Given the description of an element on the screen output the (x, y) to click on. 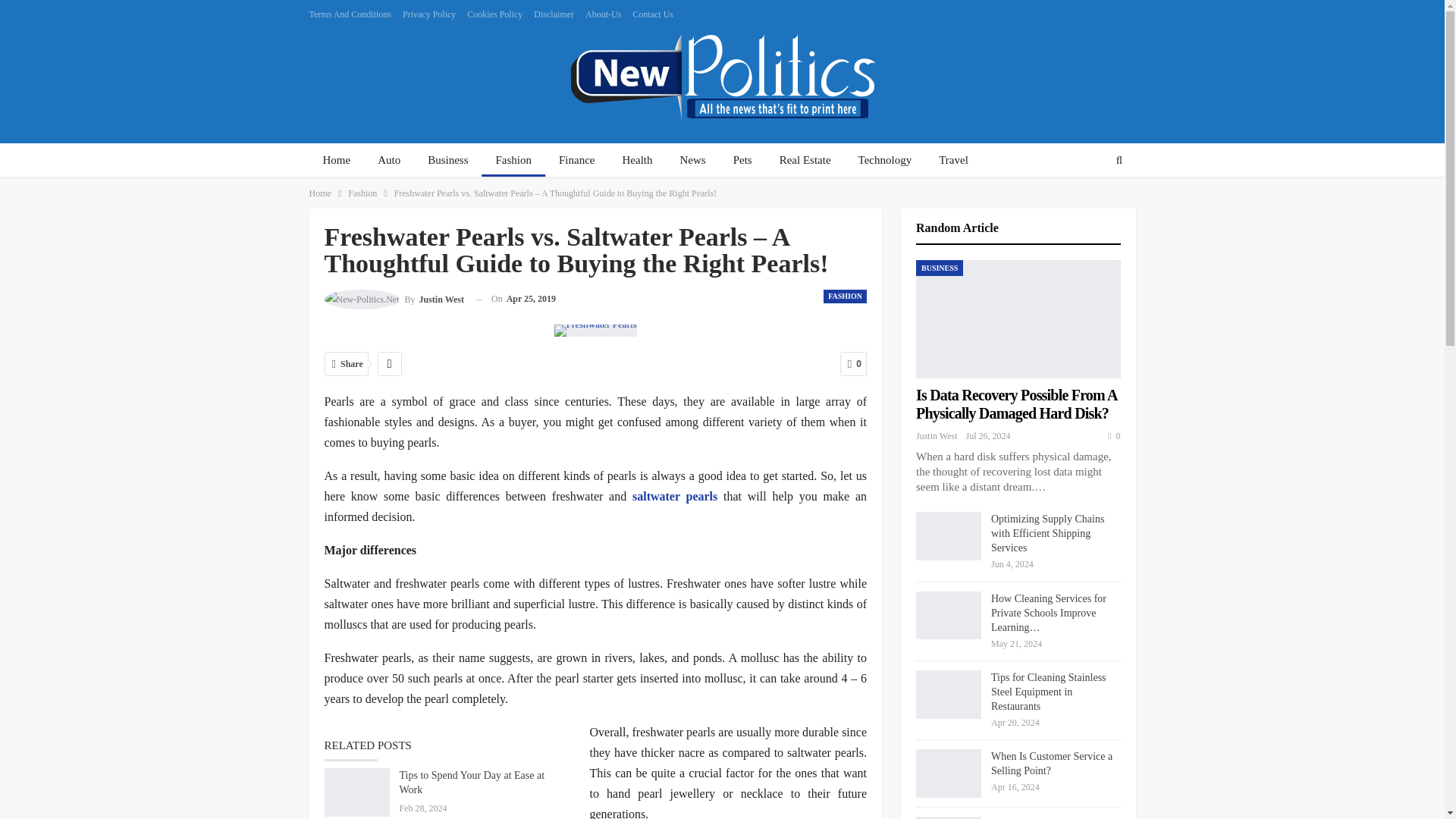
Fashion (513, 160)
Pets (742, 160)
News (692, 160)
Disclaimer (553, 14)
saltwater pearls (674, 495)
Contact Us (651, 14)
FASHION (845, 296)
Tips to Spend Your Day at Ease at Work (357, 792)
Privacy Policy (429, 14)
Business (447, 160)
Terms And Conditions (349, 14)
Home (319, 193)
Browse Author Articles (394, 299)
0 (853, 363)
Home (336, 160)
